Given the description of an element on the screen output the (x, y) to click on. 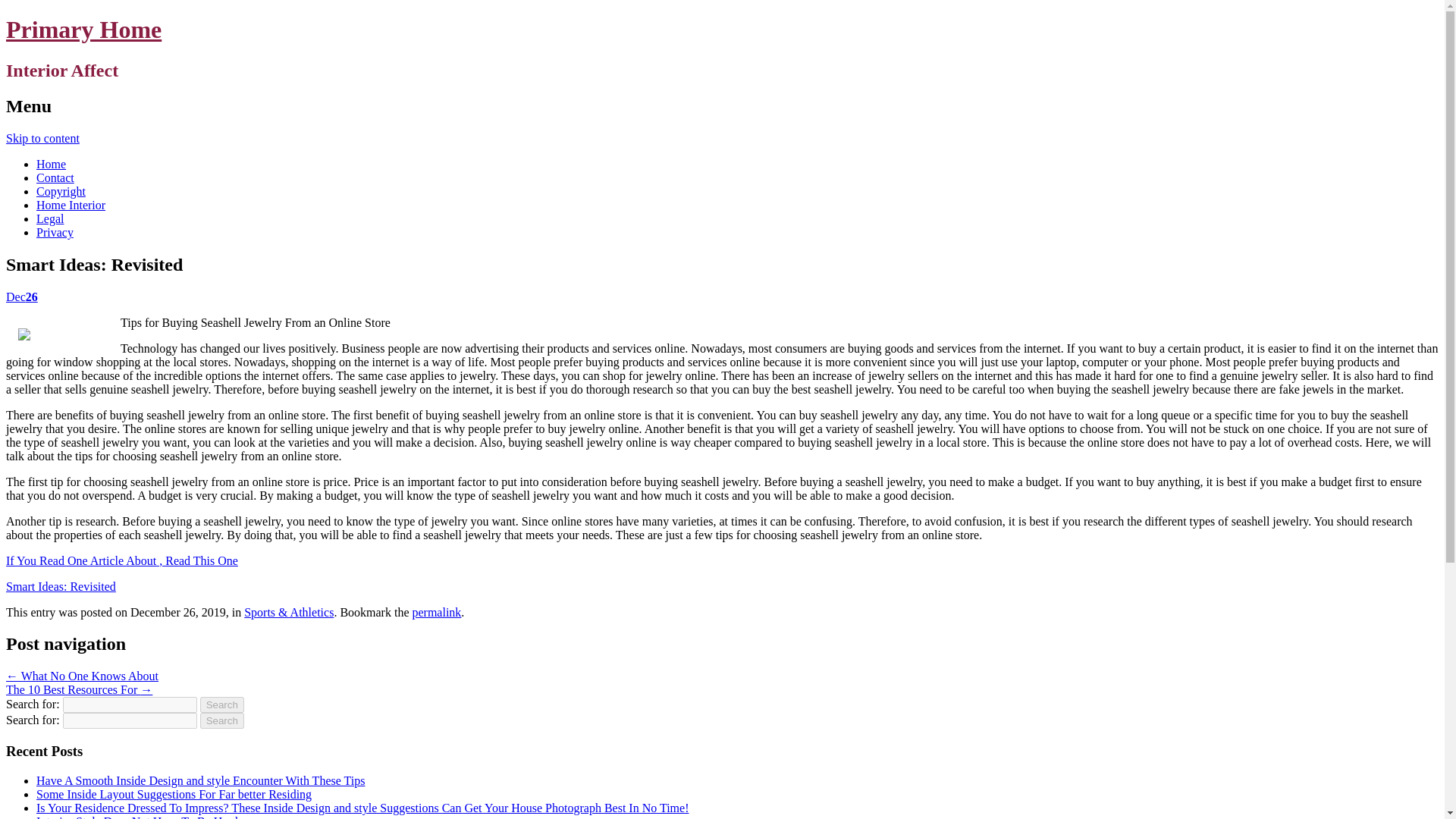
Contact (55, 177)
Skip to content (42, 137)
Home Interior (70, 205)
permalink (436, 611)
Search (222, 704)
Primary Home (83, 29)
Skip to content (42, 137)
Permalink to Smart Ideas:  Revisited (436, 611)
December 26, 2019 (21, 295)
Search (222, 720)
Some Inside Layout Suggestions For Far better Residing (173, 793)
If You Read One Article About , Read This One (121, 559)
Search (222, 704)
